Given the description of an element on the screen output the (x, y) to click on. 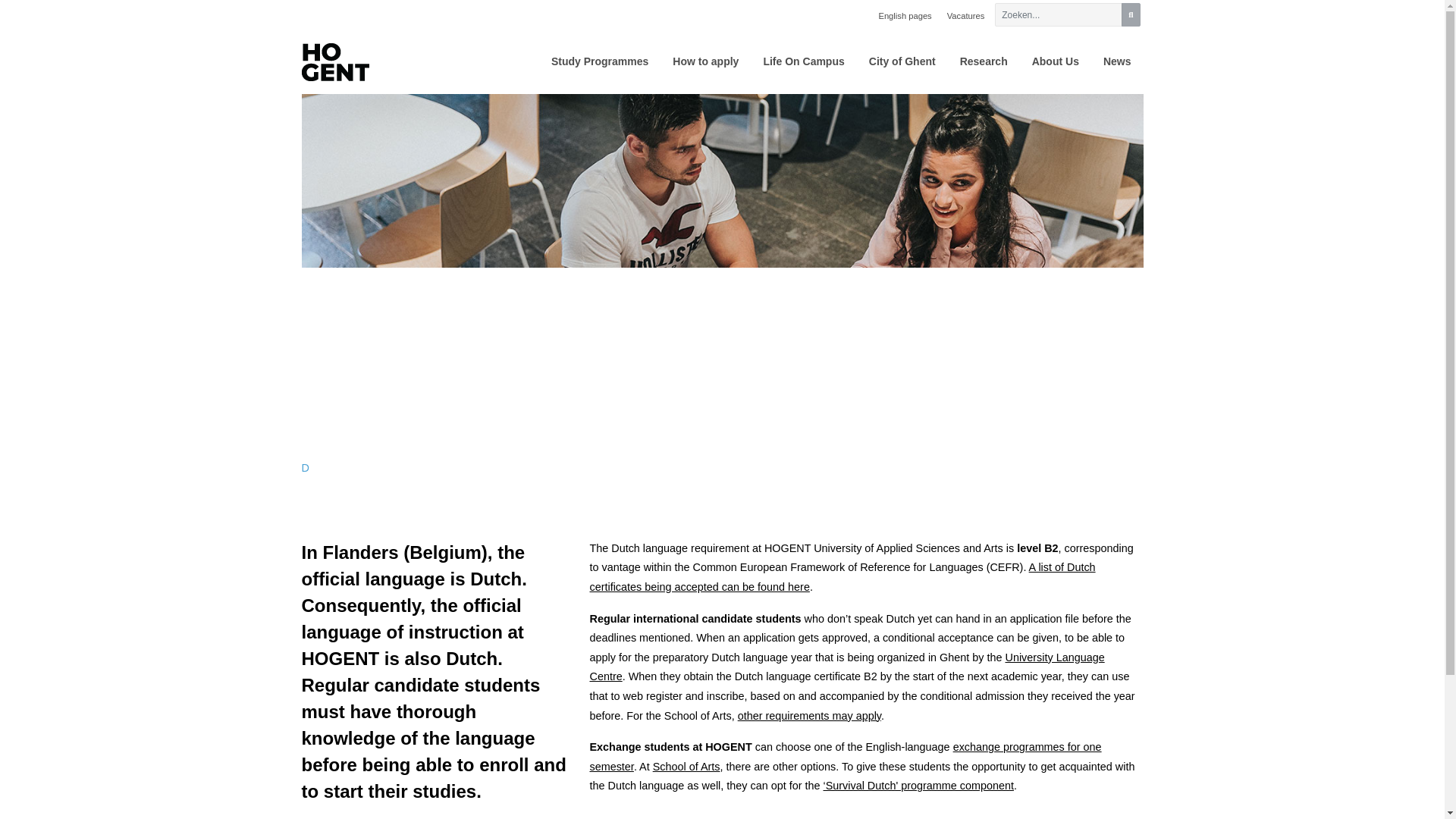
other requirements may apply (809, 715)
About Us (1055, 61)
exchange programmes for one semester (844, 757)
Skip to main content (877, 8)
Vacatures (965, 16)
English pages (904, 16)
Study Programmes (599, 61)
Research (983, 61)
University Language Centre (846, 667)
